Given the description of an element on the screen output the (x, y) to click on. 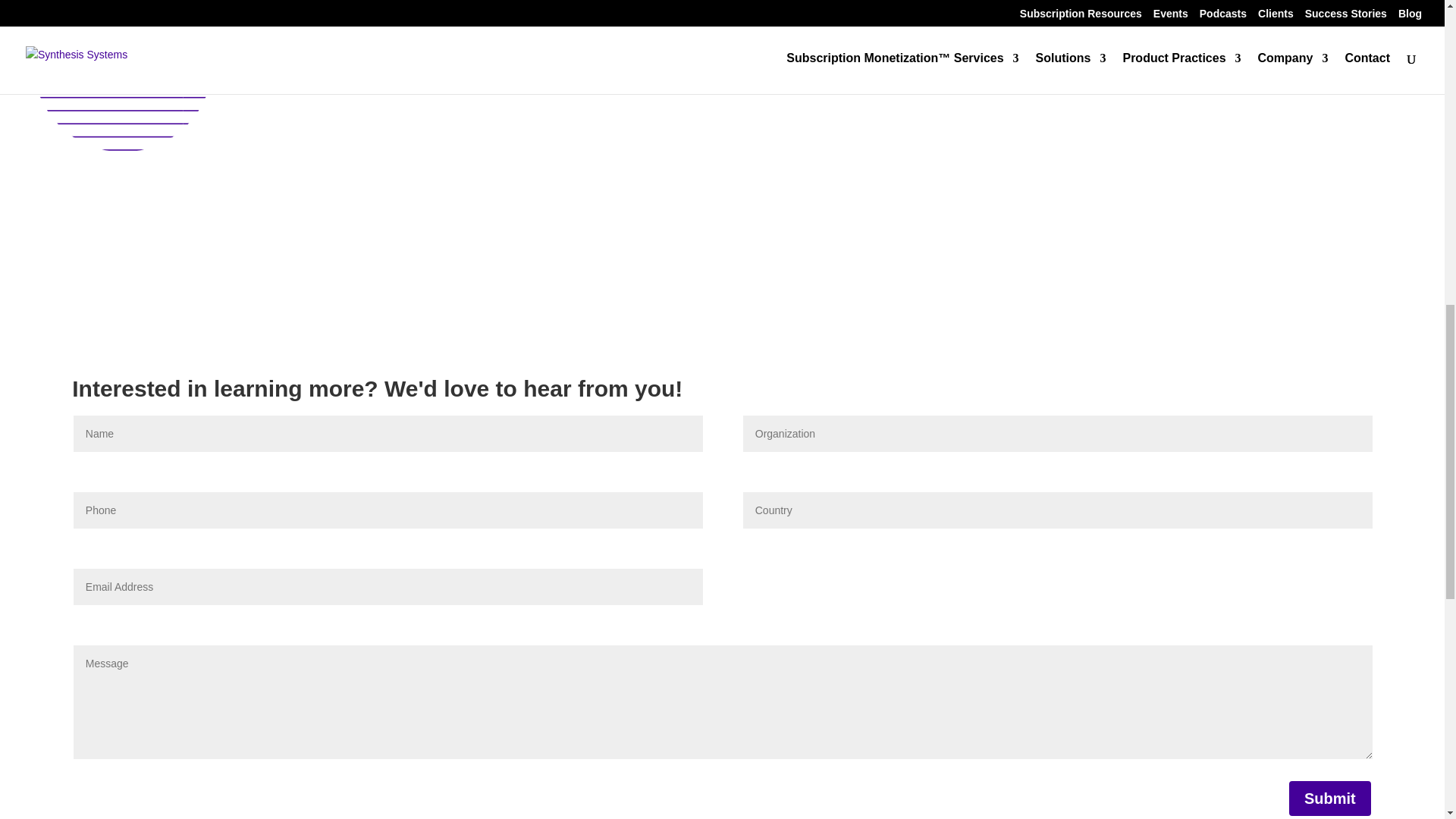
Submit (1330, 798)
